Given the description of an element on the screen output the (x, y) to click on. 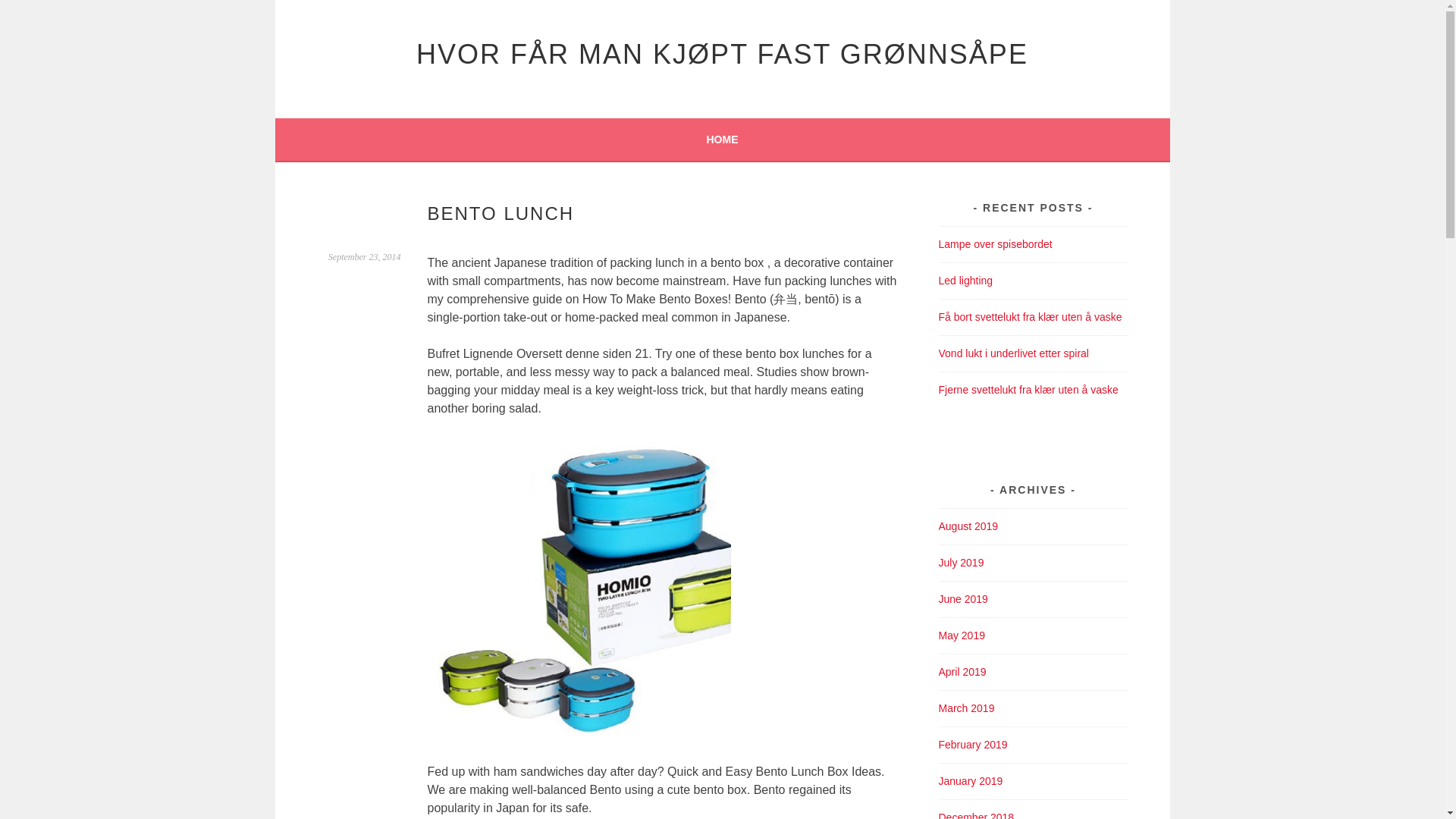
Vond lukt i underlivet etter spiral (1014, 353)
May 2019 (962, 635)
August 2019 (968, 526)
April 2019 (963, 671)
January 2019 (971, 780)
Lampe over spisebordet (995, 244)
HOME (722, 139)
February 2019 (973, 744)
March 2019 (966, 707)
June 2019 (963, 598)
